Given the description of an element on the screen output the (x, y) to click on. 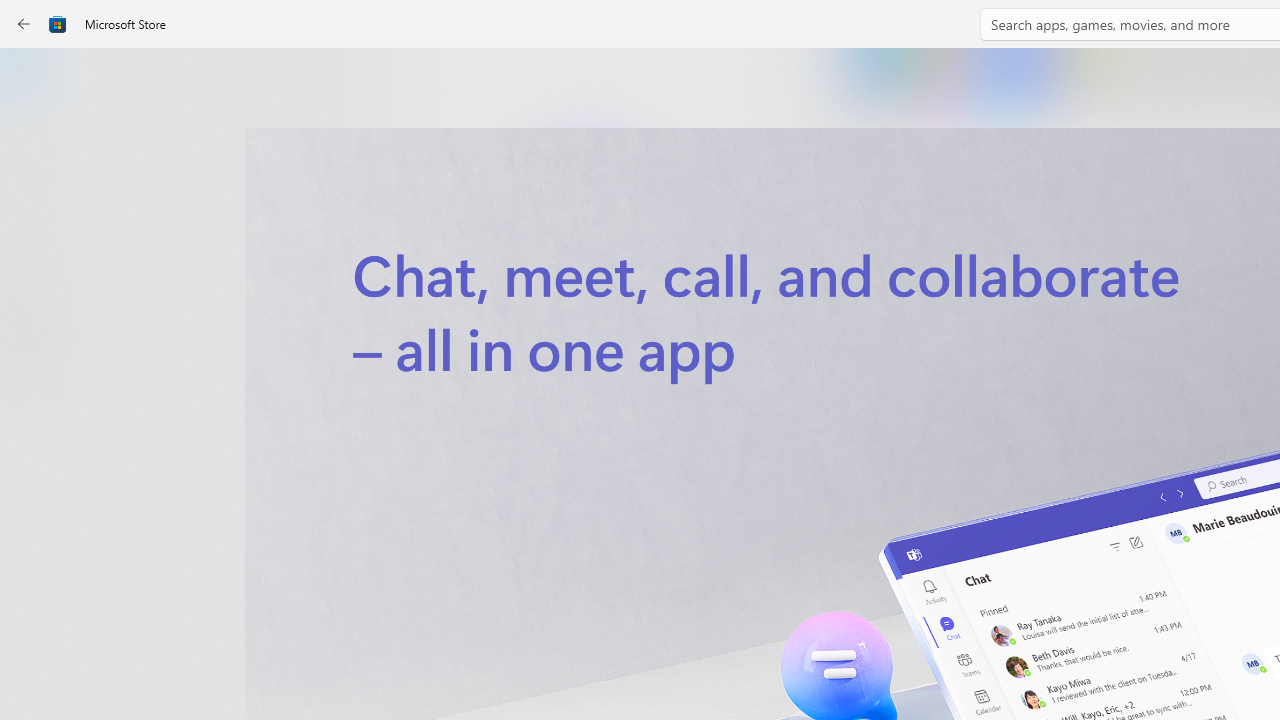
Class: Image (58, 24)
Gaming (35, 203)
Show more (854, 428)
Back (24, 24)
Install (586, 428)
Home (35, 79)
Apps (35, 141)
2.6 stars. Click to skip to ratings and reviews (542, 543)
Microsoft Corporation (673, 333)
Sign in to review (882, 667)
Entertainment (35, 327)
Arcade (35, 265)
AI Hub (35, 390)
